Given the description of an element on the screen output the (x, y) to click on. 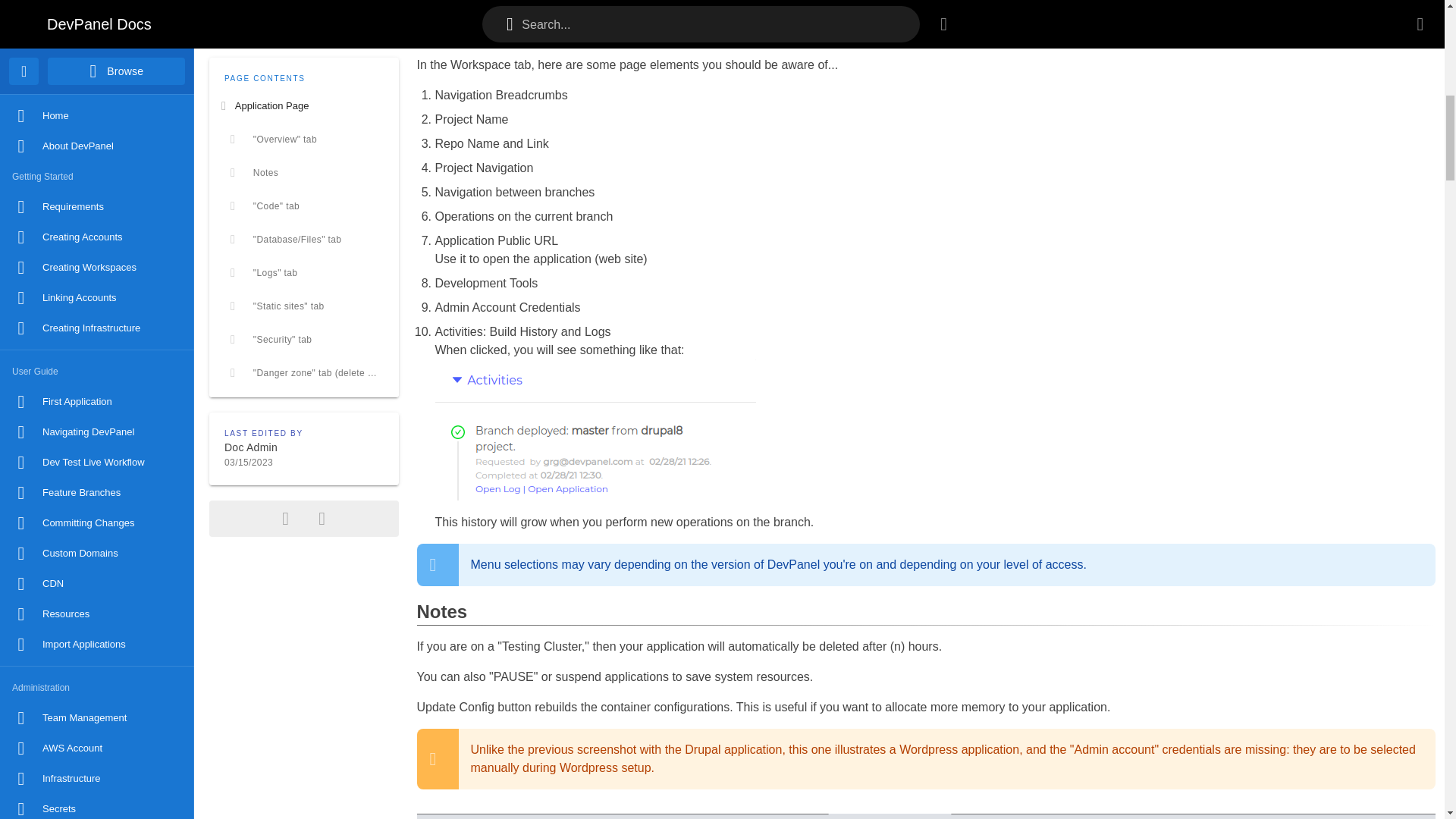
Secrets (96, 2)
Memcached (96, 318)
Composer (96, 288)
GitHub Token (96, 227)
Drupal S3 File System (96, 409)
Creating Deployments (96, 123)
Solr (96, 349)
Linking Container Registry (96, 154)
How Deployments Work (96, 93)
Drupal (96, 379)
